Given the description of an element on the screen output the (x, y) to click on. 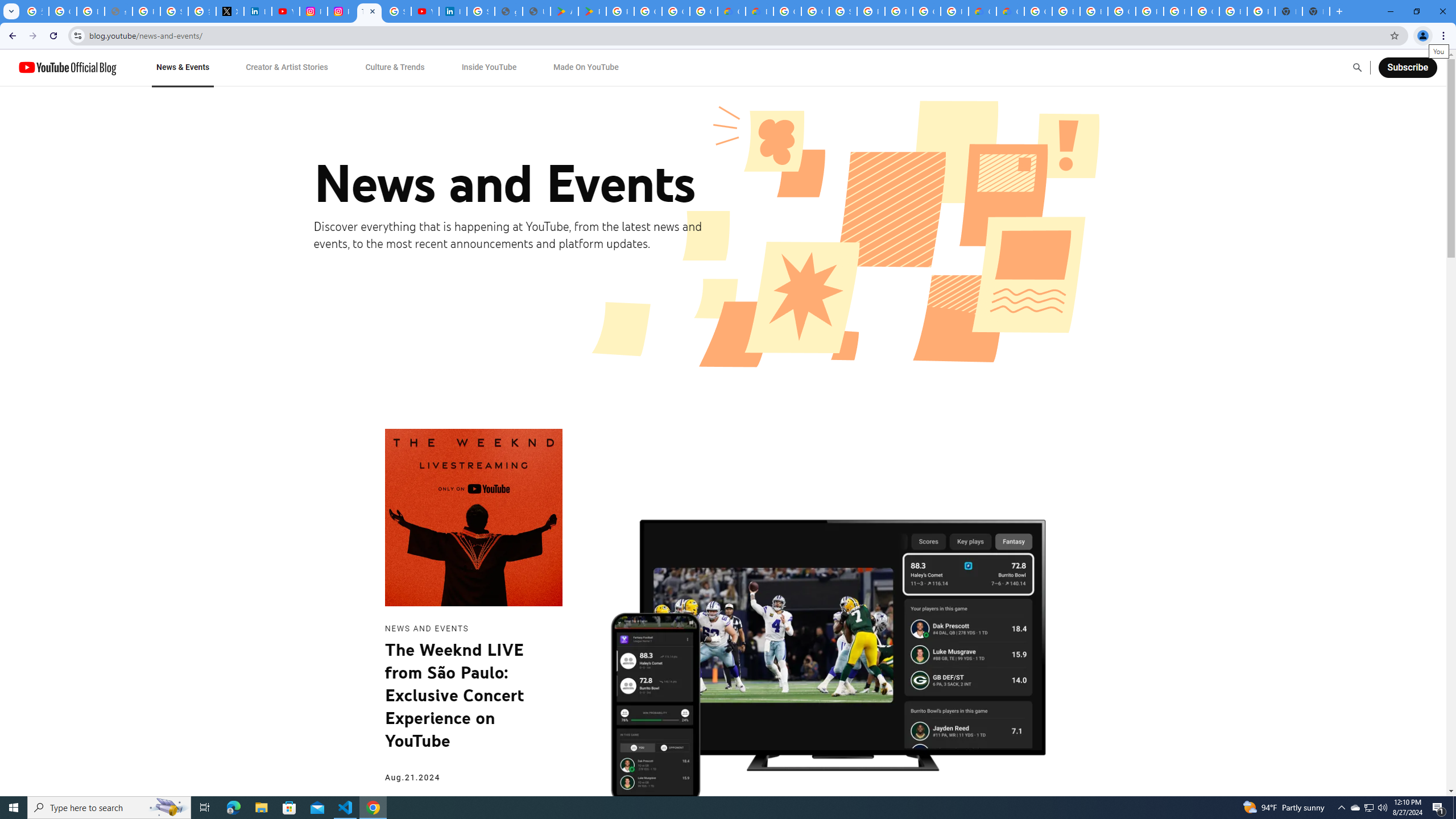
Customer Care | Google Cloud (982, 11)
YouTube Official Blog logo (67, 67)
Google Cloud Platform (926, 11)
Open Search (1357, 67)
LinkedIn Privacy Policy (257, 11)
Google Cloud Platform (1121, 11)
